Given the description of an element on the screen output the (x, y) to click on. 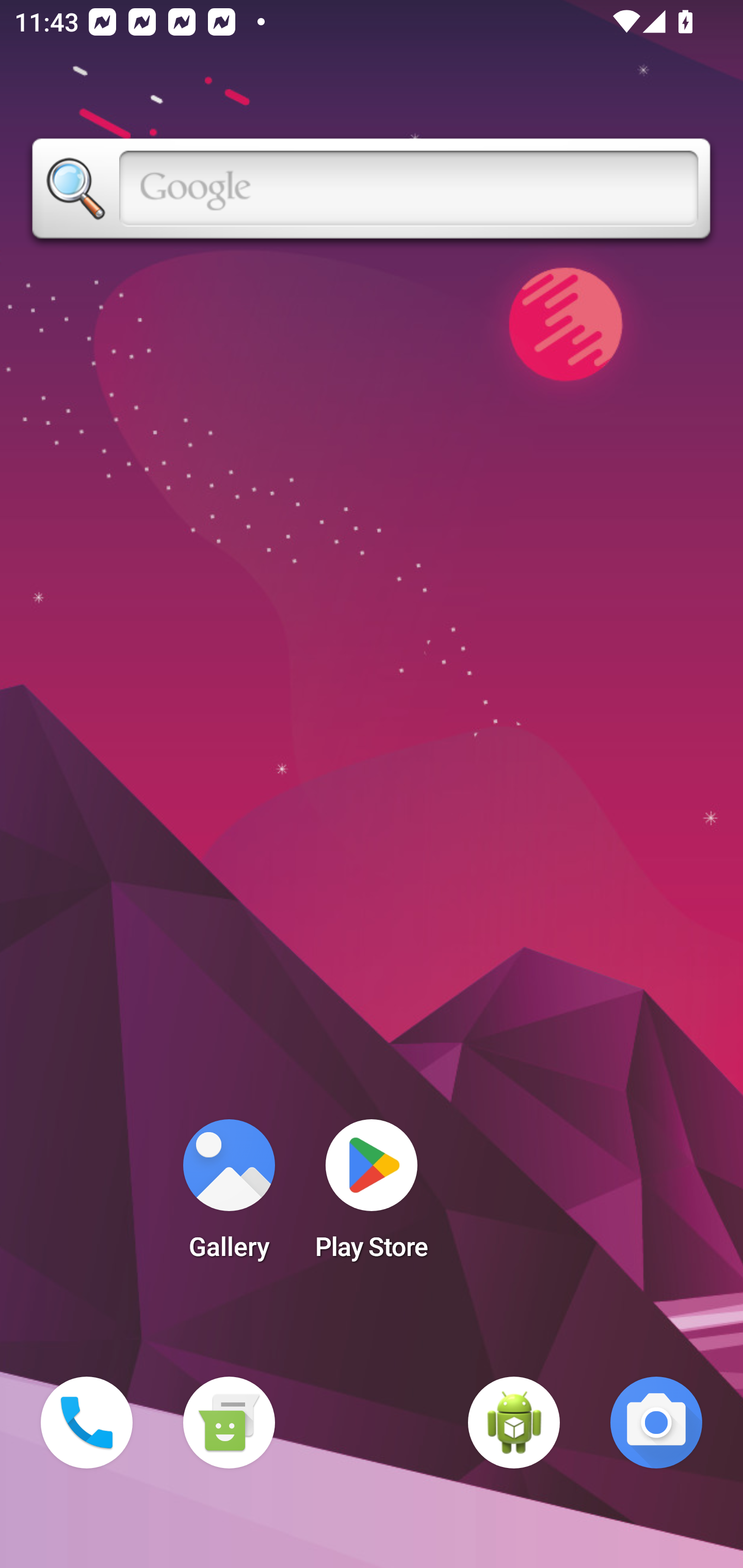
Gallery (228, 1195)
Play Store (371, 1195)
Phone (86, 1422)
Messaging (228, 1422)
WebView Browser Tester (513, 1422)
Camera (656, 1422)
